Given the description of an element on the screen output the (x, y) to click on. 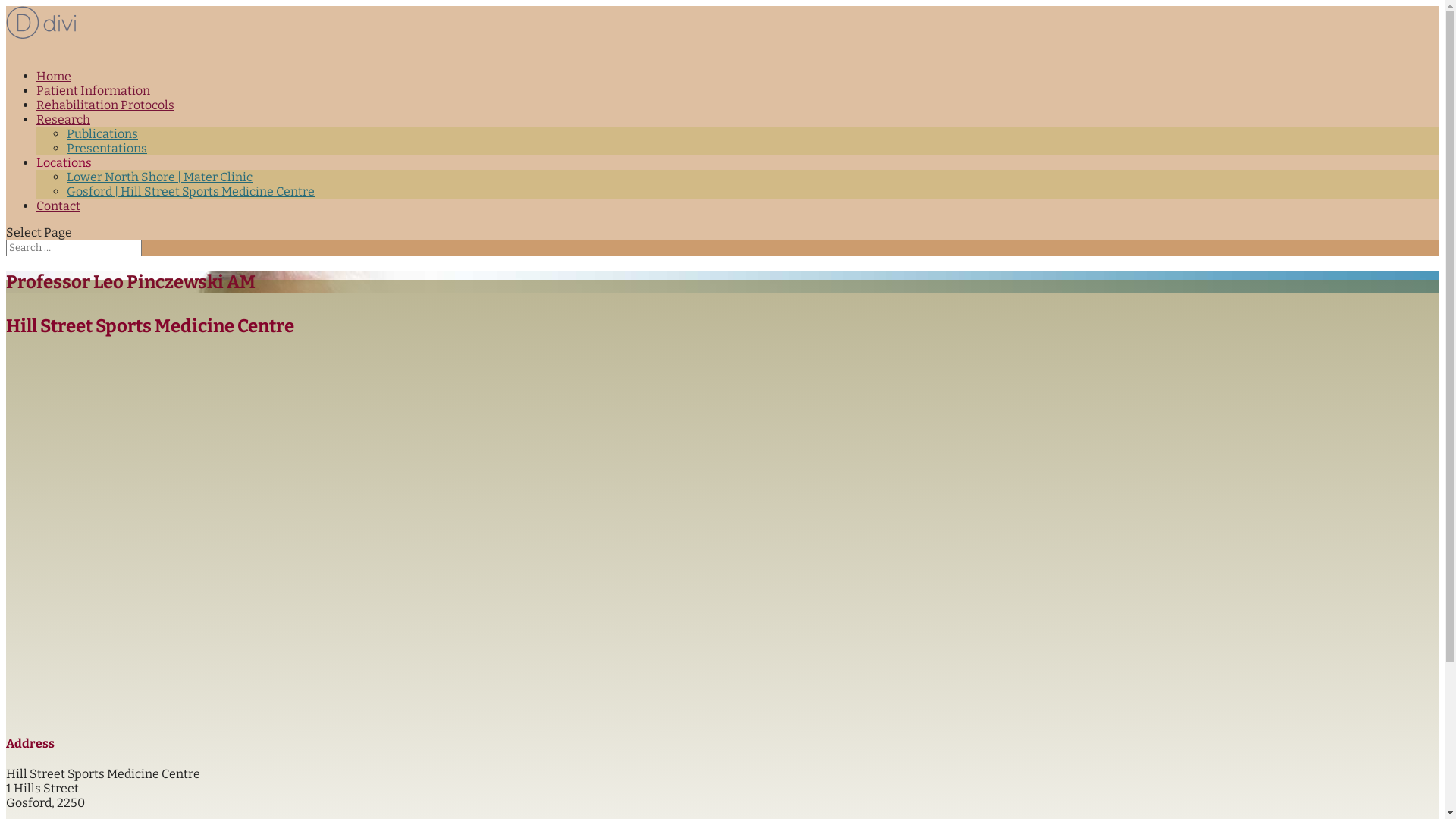
Gosford | Hill Street Sports Medicine Centre Element type: text (190, 191)
Rehabilitation Protocols Element type: text (105, 112)
Locations Element type: text (63, 170)
Contact Element type: text (58, 213)
Publications Element type: text (102, 133)
Presentations Element type: text (106, 148)
Search for: Element type: hover (73, 247)
Home Element type: text (53, 83)
Patient Information Element type: text (93, 97)
Research Element type: text (63, 126)
Lower North Shore | Mater Clinic Element type: text (159, 176)
